Given the description of an element on the screen output the (x, y) to click on. 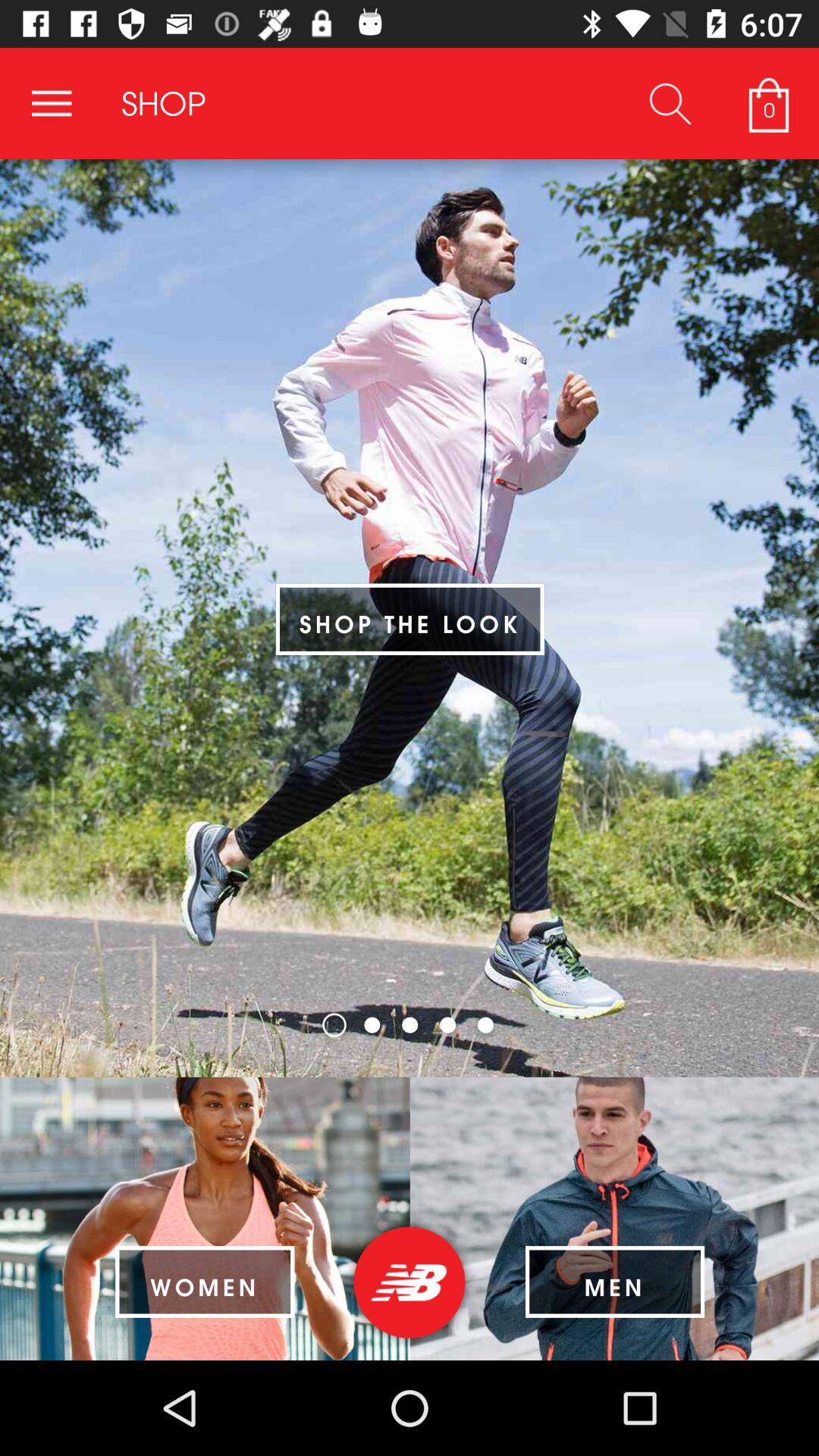
see options (51, 103)
